Given the description of an element on the screen output the (x, y) to click on. 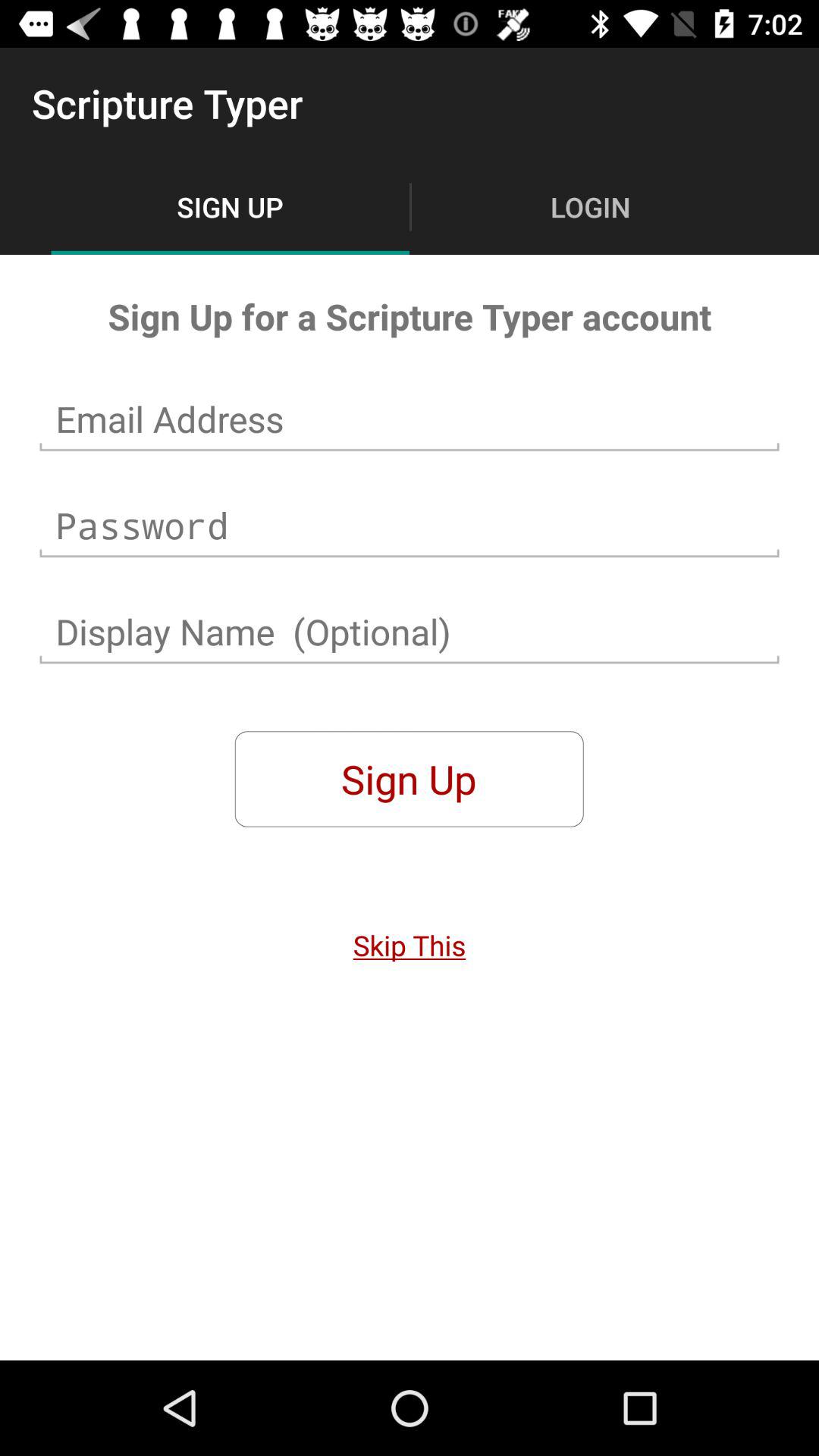
enter email address option (409, 419)
